Given the description of an element on the screen output the (x, y) to click on. 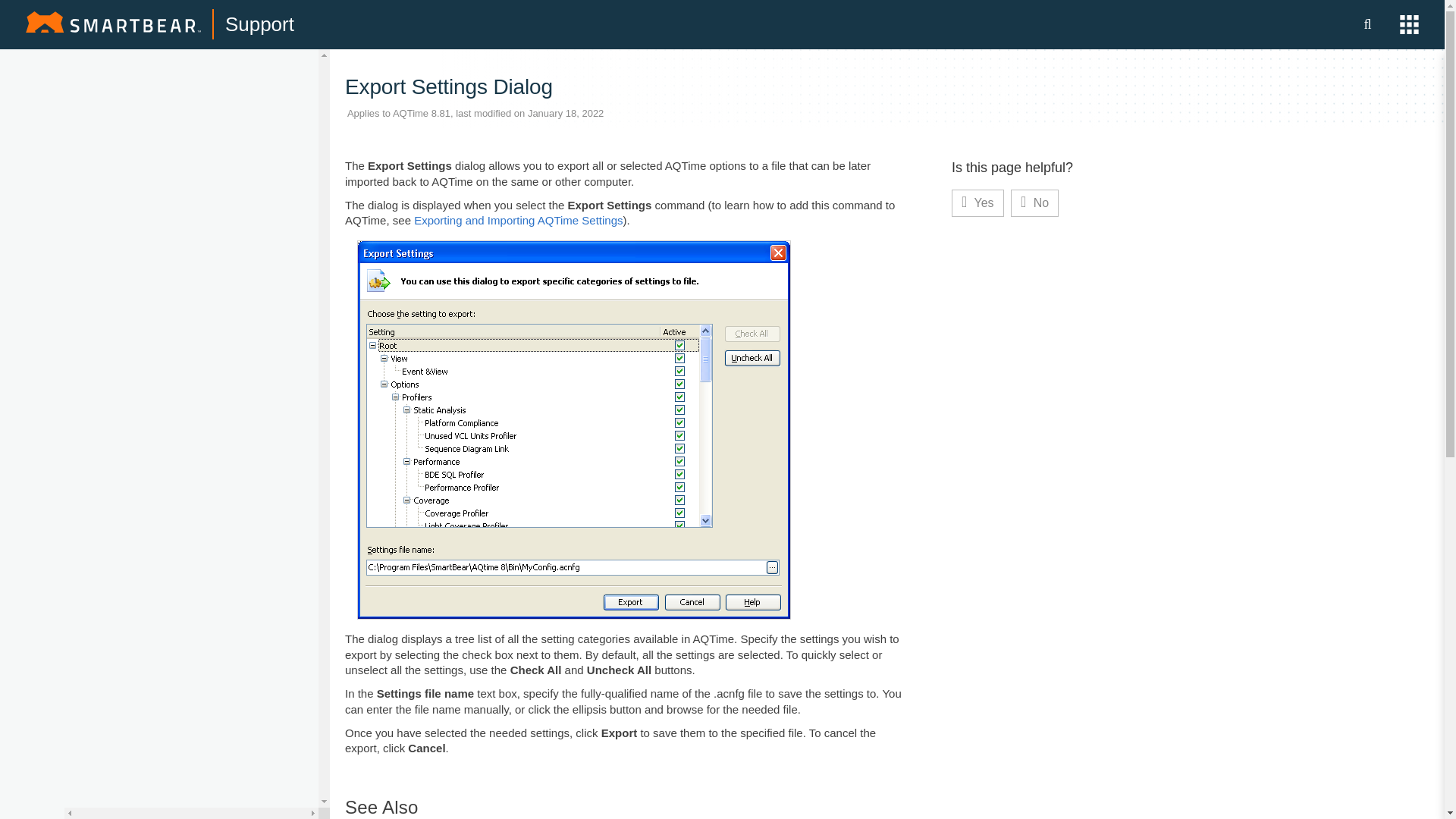
Support (259, 24)
Yes (978, 203)
Exporting and Importing AQTime Settings (518, 219)
No (1034, 203)
